Given the description of an element on the screen output the (x, y) to click on. 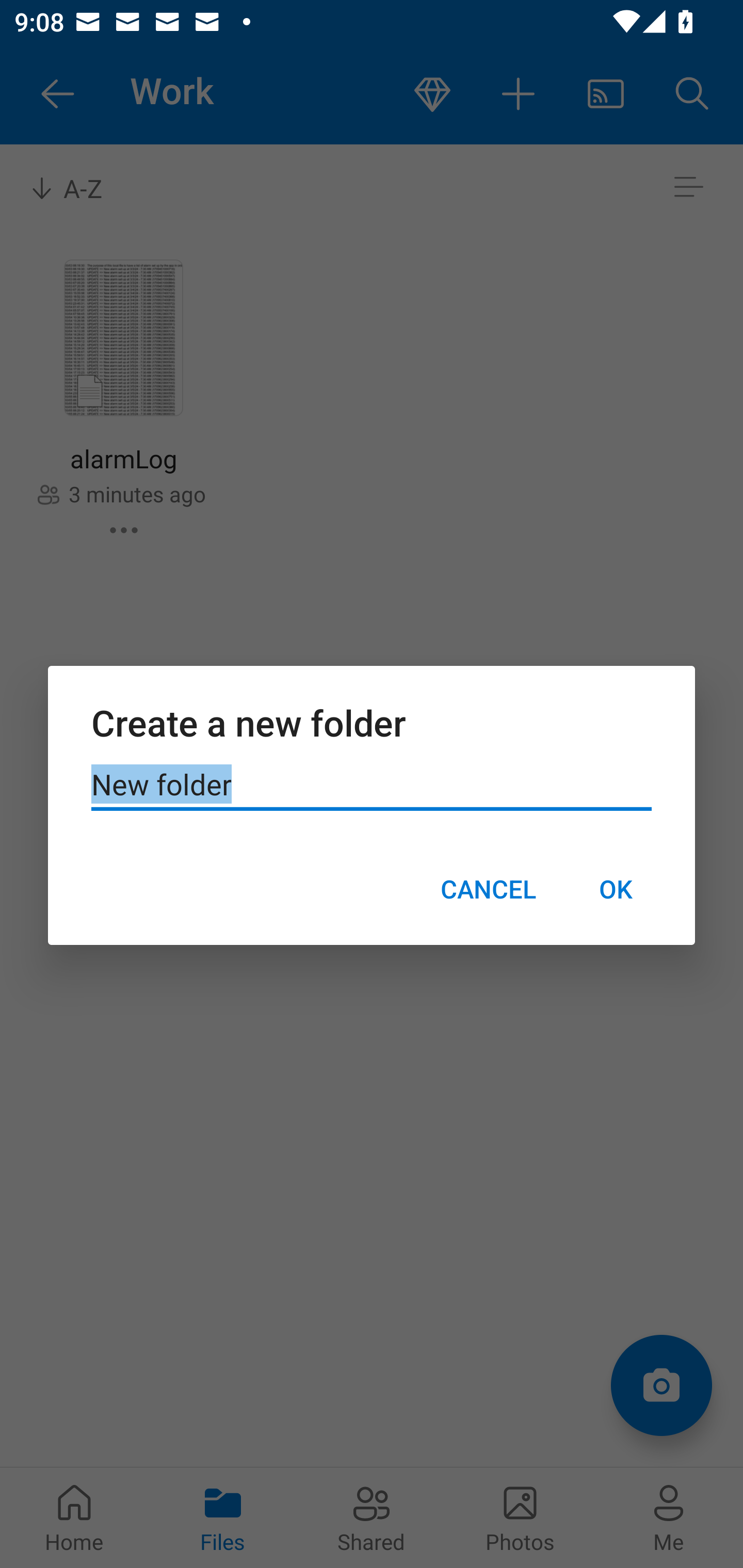
New folder (371, 784)
CANCEL (488, 888)
OK (615, 888)
